Given the description of an element on the screen output the (x, y) to click on. 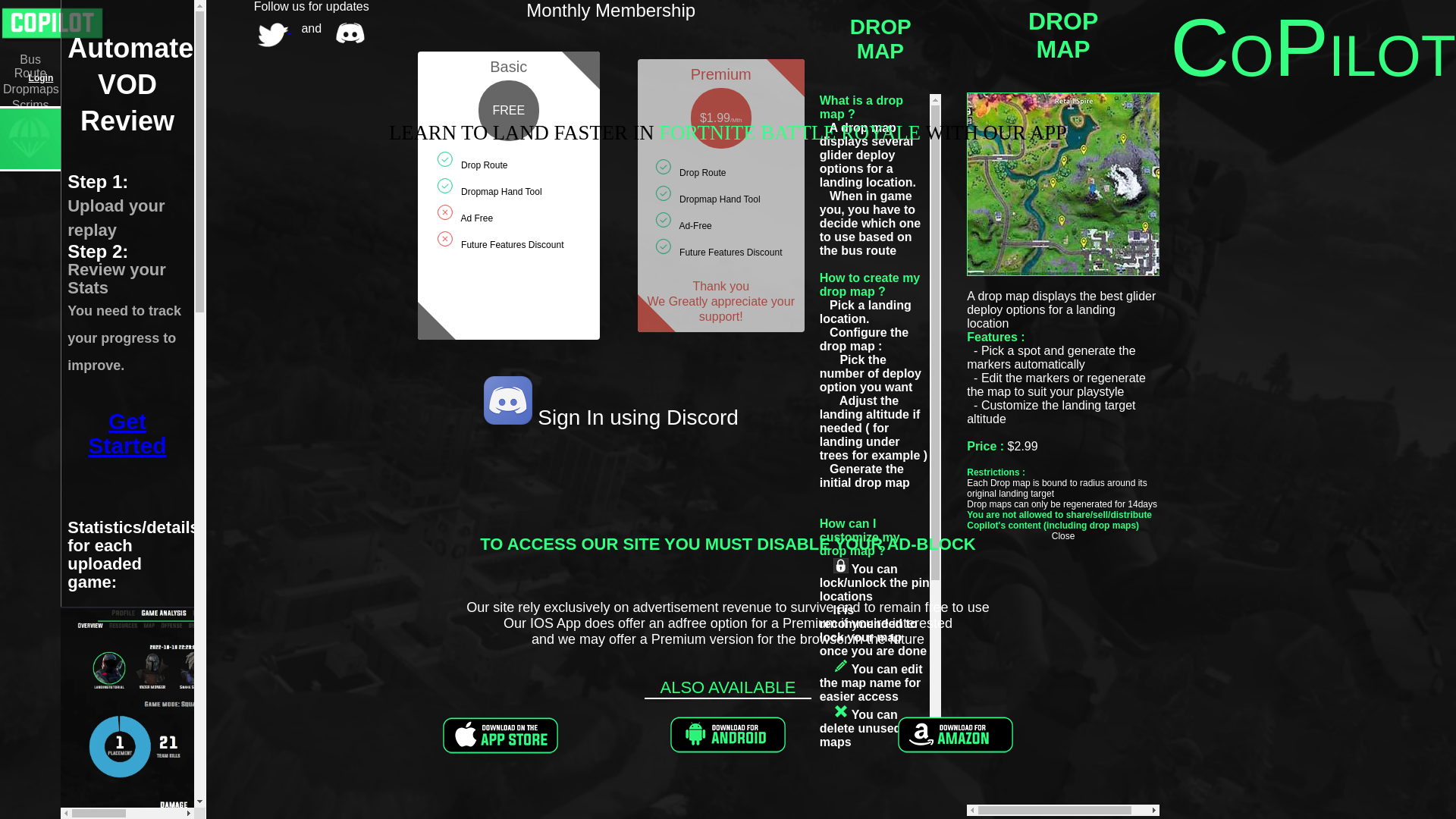
Scrims (30, 104)
Login (41, 77)
Sign In using Discord (611, 417)
Dropmaps (31, 88)
Step 1: Upload your replay (115, 205)
Get Started (126, 432)
Bus Route (30, 72)
You need to track your progress to improve. (123, 338)
VOD Review (30, 133)
Step 2: Review your Stats (115, 269)
